Given the description of an element on the screen output the (x, y) to click on. 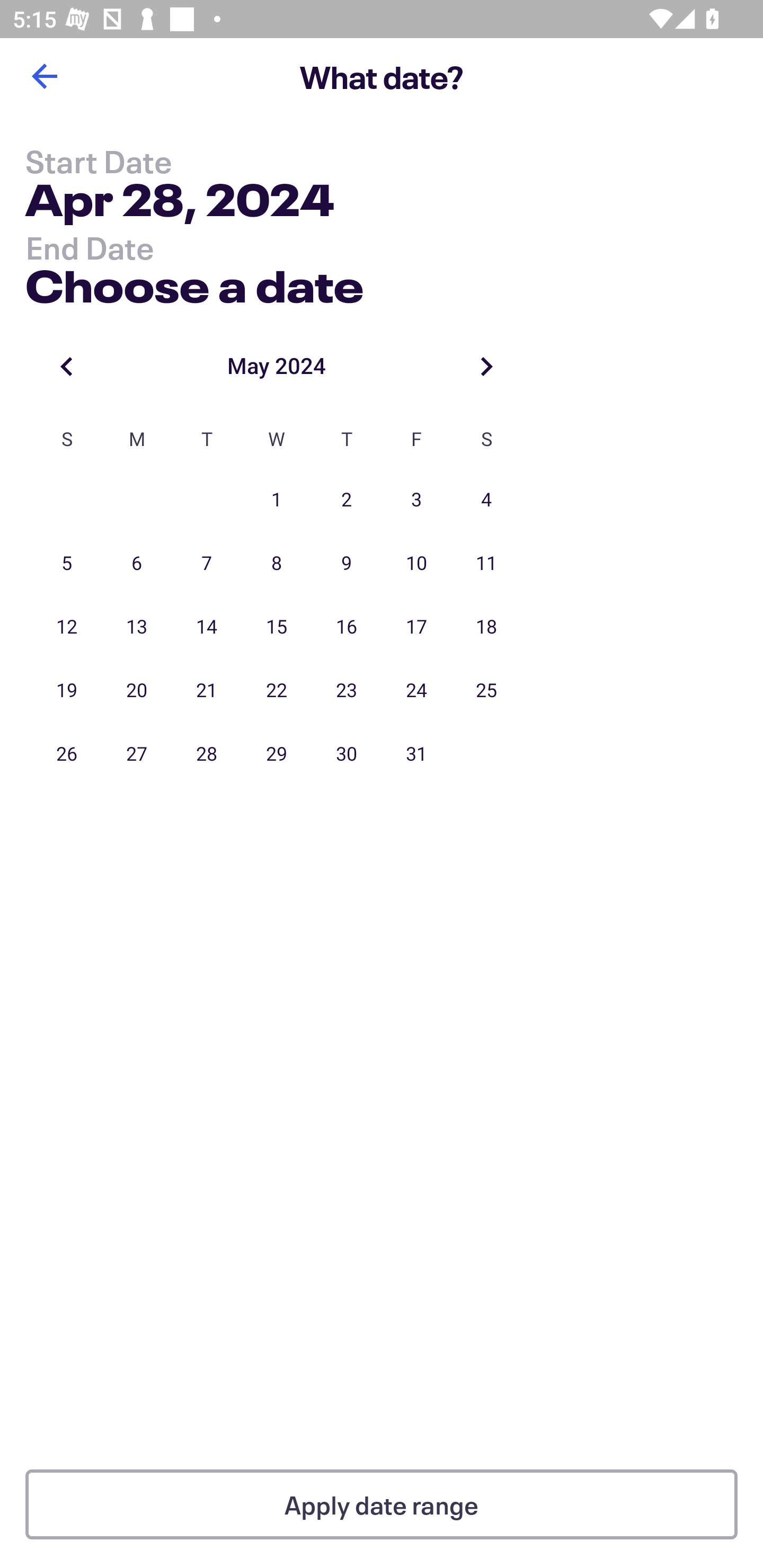
Back button (44, 75)
Apr 28, 2024 (179, 203)
Choose a date (194, 282)
Previous month (66, 365)
Next month (486, 365)
1 01 May 2024 (276, 499)
2 02 May 2024 (346, 499)
3 03 May 2024 (416, 499)
4 04 May 2024 (486, 499)
5 05 May 2024 (66, 563)
6 06 May 2024 (136, 563)
7 07 May 2024 (206, 563)
8 08 May 2024 (276, 563)
9 09 May 2024 (346, 563)
10 10 May 2024 (416, 563)
11 11 May 2024 (486, 563)
12 12 May 2024 (66, 626)
13 13 May 2024 (136, 626)
14 14 May 2024 (206, 626)
15 15 May 2024 (276, 626)
16 16 May 2024 (346, 626)
17 17 May 2024 (416, 626)
18 18 May 2024 (486, 626)
19 19 May 2024 (66, 690)
20 20 May 2024 (136, 690)
21 21 May 2024 (206, 690)
22 22 May 2024 (276, 690)
23 23 May 2024 (346, 690)
24 24 May 2024 (416, 690)
25 25 May 2024 (486, 690)
26 26 May 2024 (66, 753)
27 27 May 2024 (136, 753)
28 28 May 2024 (206, 753)
29 29 May 2024 (276, 753)
30 30 May 2024 (346, 753)
31 31 May 2024 (416, 753)
Apply date range (381, 1504)
